Given the description of an element on the screen output the (x, y) to click on. 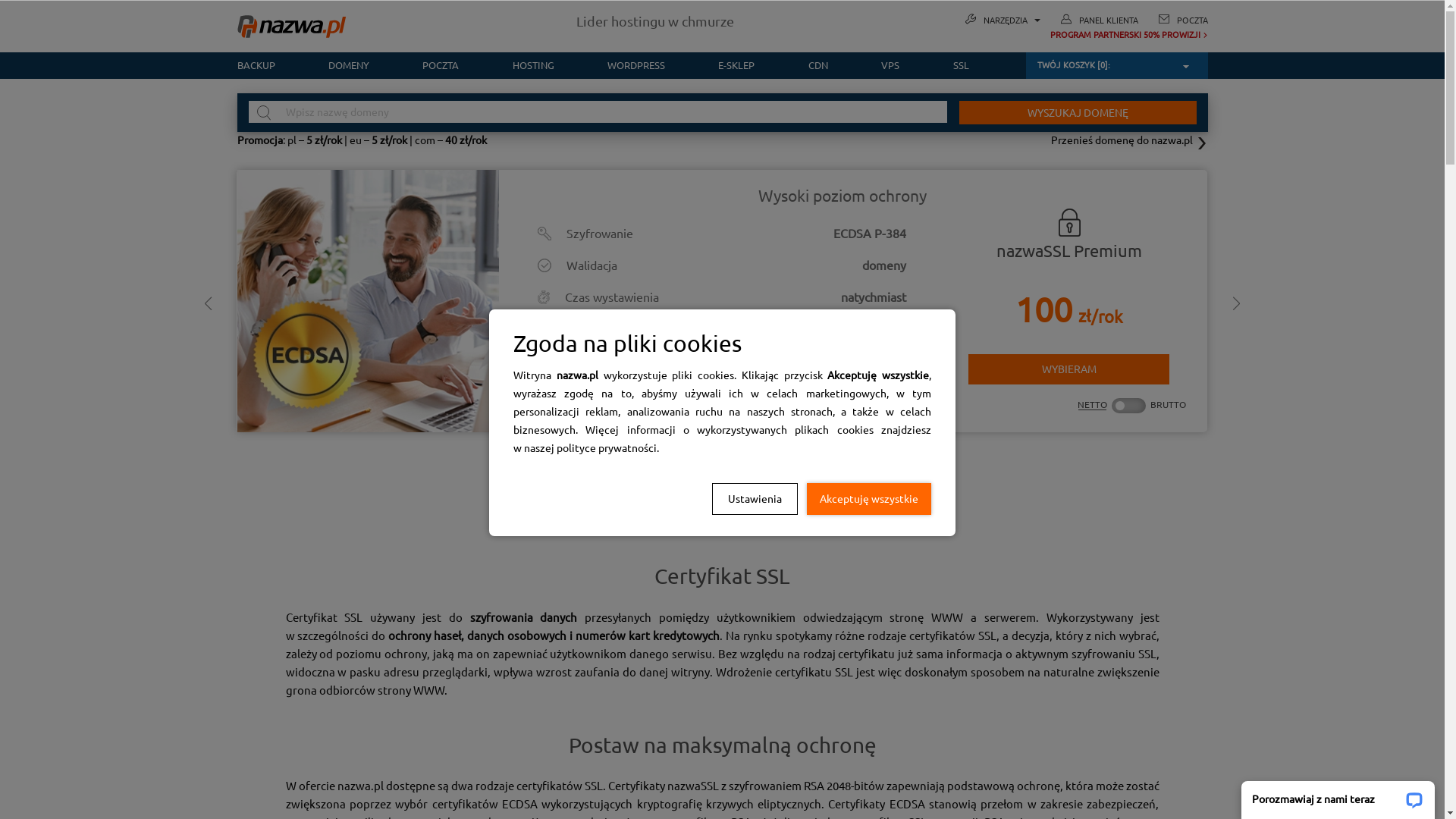
POCZTA Element type: text (440, 65)
znaczek potwierdzenia Element type: hover (899, 361)
HOSTING Element type: text (532, 65)
VPS Element type: text (889, 65)
znaczek potwierdzenia Element type: hover (899, 328)
CDN Element type: text (817, 65)
PROGRAM PARTNERSKI 50% PROWIZJI Element type: text (1086, 35)
BACKUP Element type: text (268, 65)
WORDPRESS Element type: text (635, 65)
DOMENY Element type: text (348, 65)
Ustawienia Element type: text (754, 498)
SSL Element type: text (946, 65)
PANEL KLIENTA Element type: text (1107, 20)
WYBIERAM Element type: text (1069, 369)
POCZTA Element type: text (1192, 20)
E-SKLEP Element type: text (736, 65)
